Given the description of an element on the screen output the (x, y) to click on. 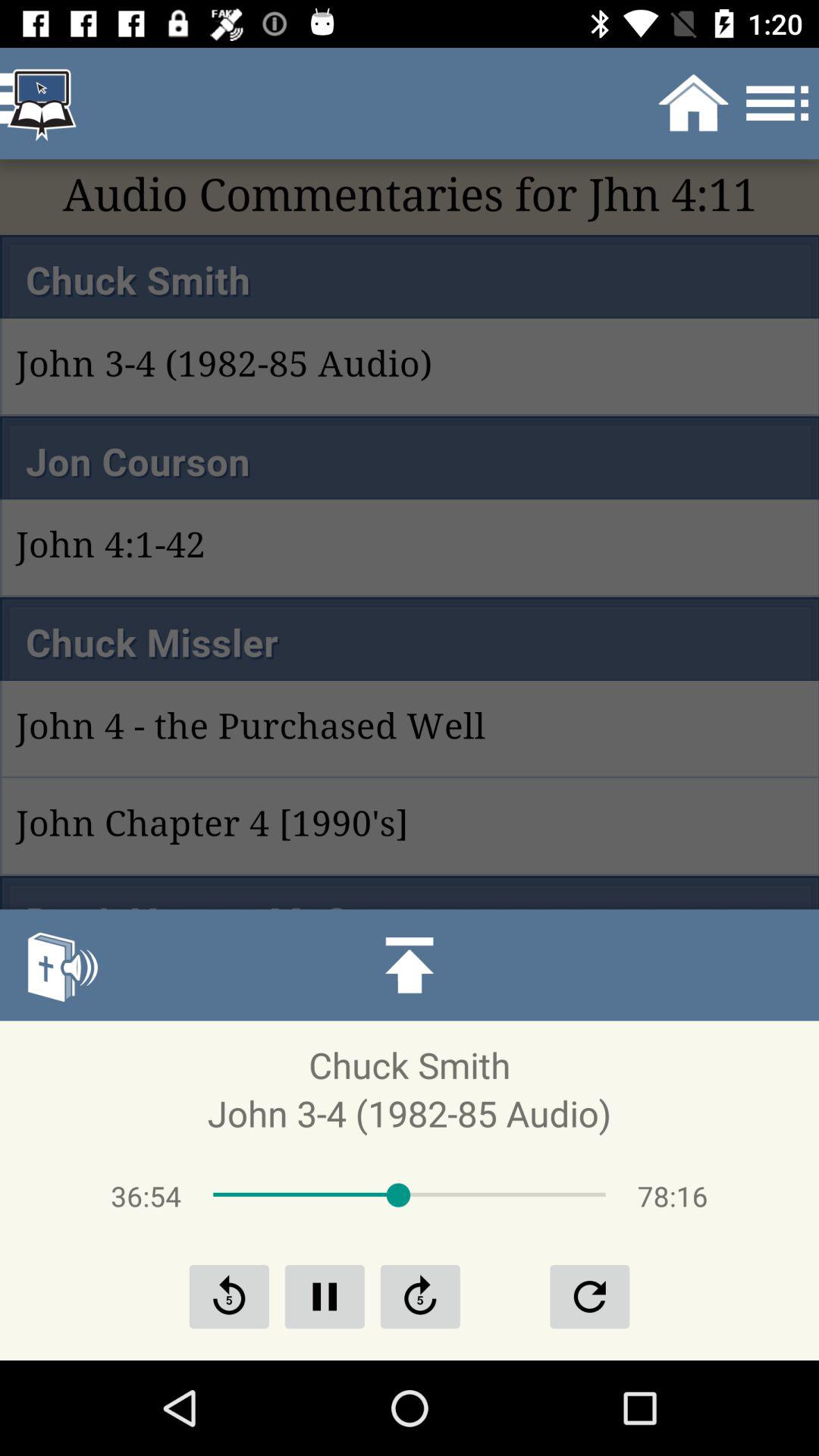
play next song (420, 1296)
